Given the description of an element on the screen output the (x, y) to click on. 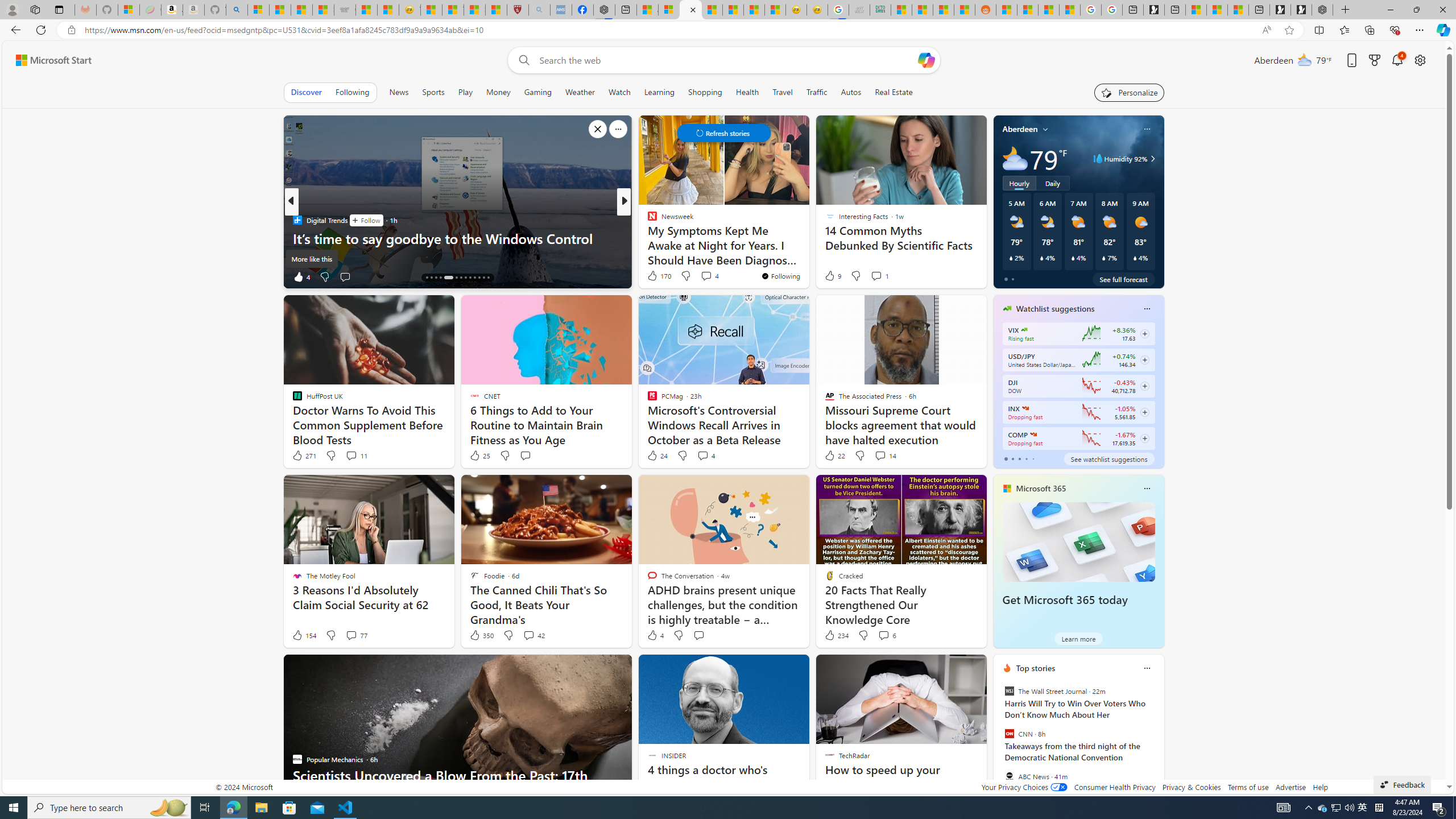
View comments 34 Comment (707, 276)
Daily (1052, 183)
Million Dollar Sense (647, 238)
View comments 14 Comment (885, 455)
Class: weather-current-precipitation-glyph (1134, 257)
AutomationID: tab-21 (465, 277)
View comments 73 Comment (707, 276)
